Given the description of an element on the screen output the (x, y) to click on. 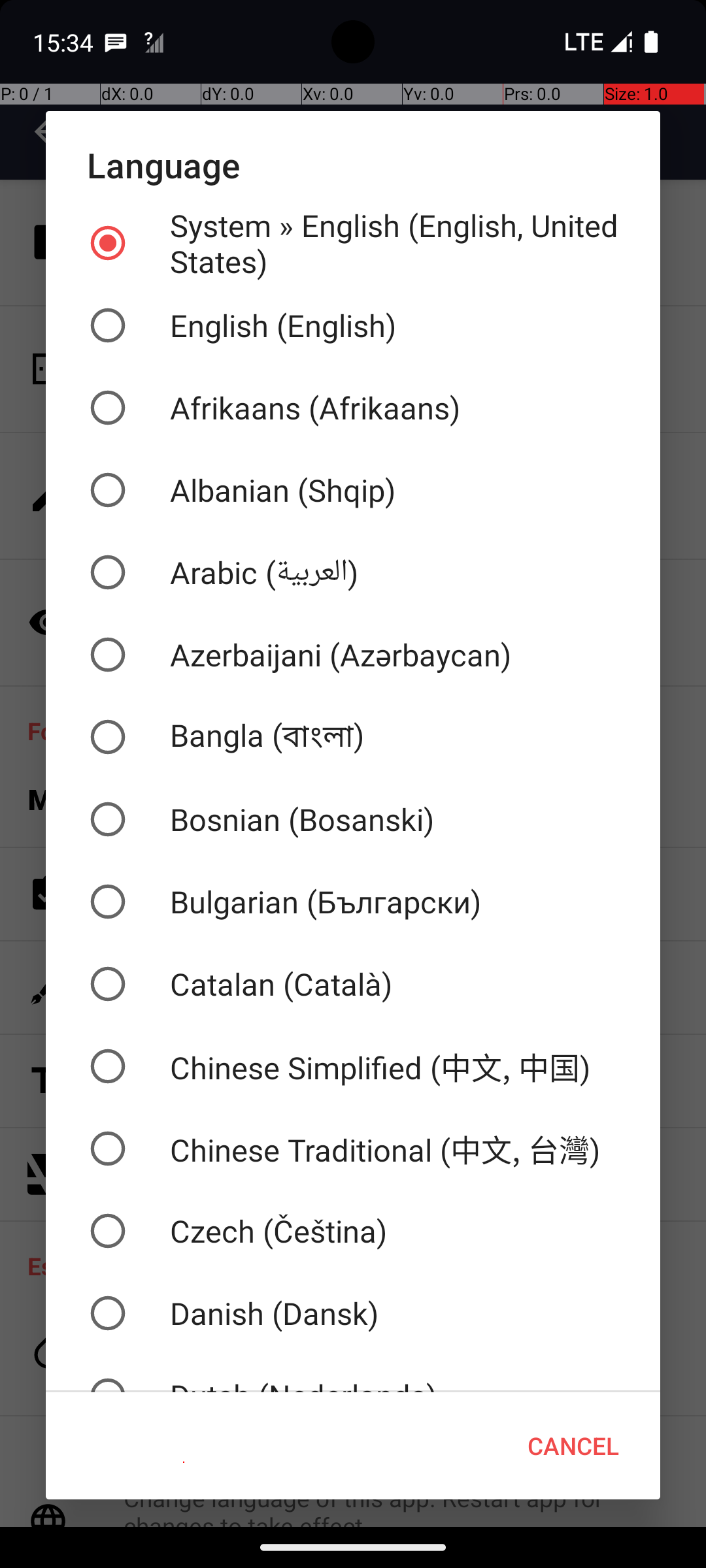
System » English (English, United States) Element type: android.widget.CheckedTextView (352, 242)
English (English) Element type: android.widget.CheckedTextView (352, 325)
Afrikaans (Afrikaans) Element type: android.widget.CheckedTextView (352, 407)
Albanian (Shqip) Element type: android.widget.CheckedTextView (352, 489)
Arabic (العربية) Element type: android.widget.CheckedTextView (352, 572)
Azerbaijani (Azərbaycan) Element type: android.widget.CheckedTextView (352, 654)
Bangla (বাংলা) Element type: android.widget.CheckedTextView (352, 736)
Bosnian (Bosanski) Element type: android.widget.CheckedTextView (352, 819)
Bulgarian (Български) Element type: android.widget.CheckedTextView (352, 901)
Catalan (Català) Element type: android.widget.CheckedTextView (352, 983)
Chinese Simplified (中文, 中国) Element type: android.widget.CheckedTextView (352, 1066)
Chinese Traditional (中文, 台灣) Element type: android.widget.CheckedTextView (352, 1148)
Czech (Čeština) Element type: android.widget.CheckedTextView (352, 1230)
Danish (Dansk) Element type: android.widget.CheckedTextView (352, 1313)
Dutch (Nederlands) Element type: android.widget.CheckedTextView (352, 1373)
